Given the description of an element on the screen output the (x, y) to click on. 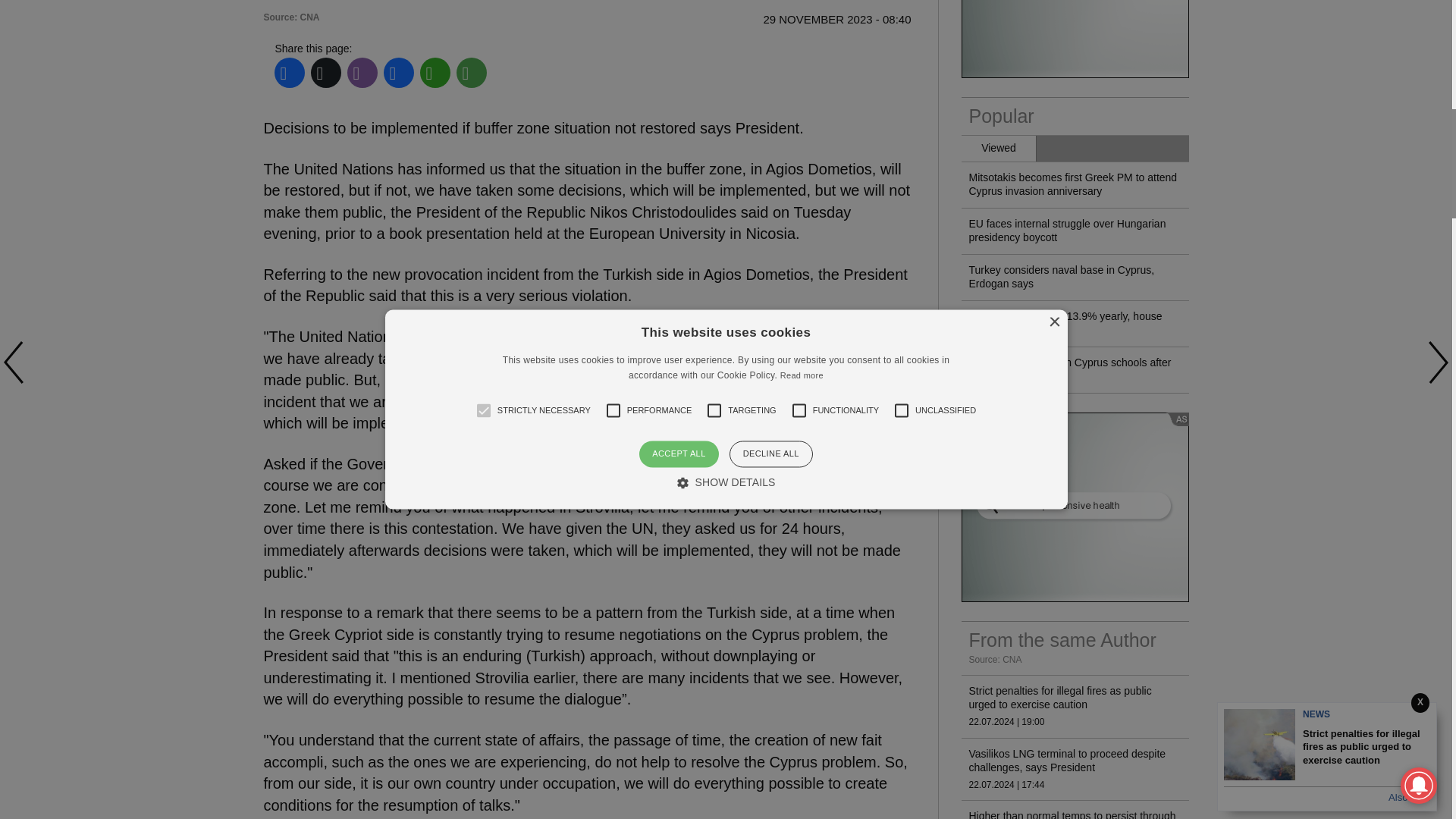
Facebook (288, 72)
